Given the description of an element on the screen output the (x, y) to click on. 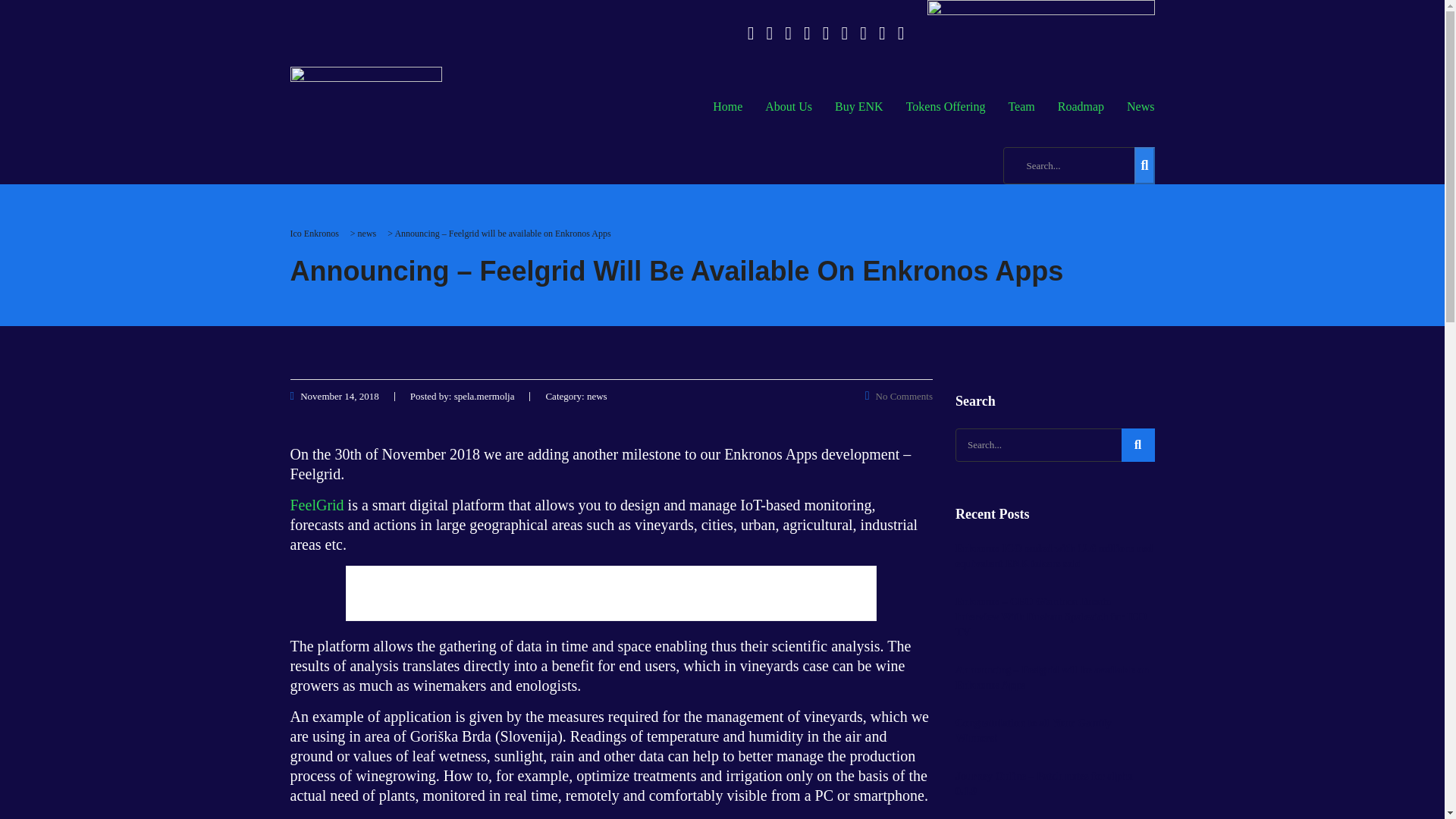
FeelGrid (316, 504)
Ico Enkronos (313, 233)
Buy ENK (859, 107)
About Us (789, 107)
News (1140, 107)
Home (727, 107)
No Comments (898, 396)
Tokens Offering (946, 107)
Team (1020, 107)
